Given the description of an element on the screen output the (x, y) to click on. 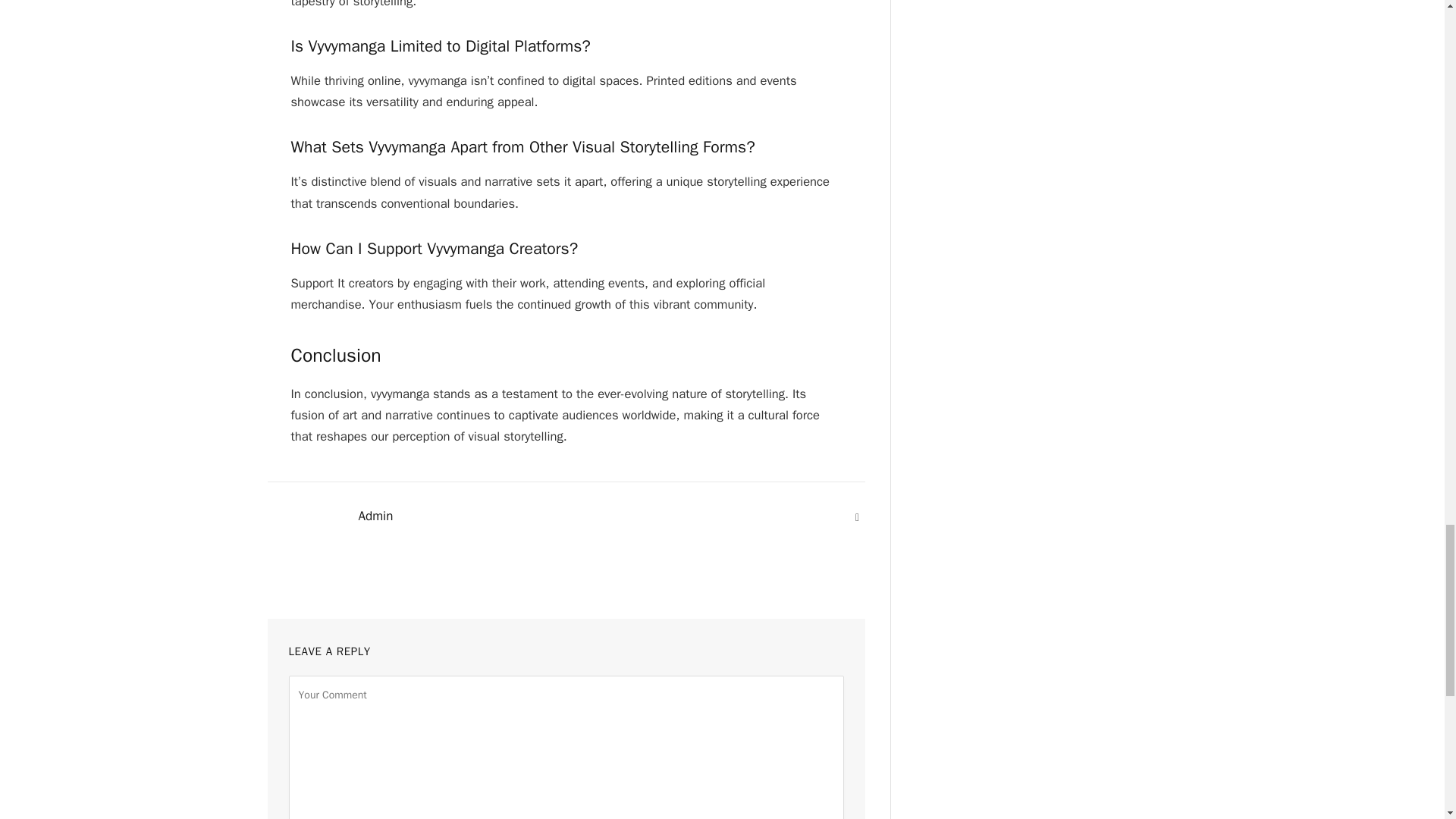
Website (856, 517)
Website (856, 517)
Admin (375, 516)
Posts by Admin (375, 516)
